Given the description of an element on the screen output the (x, y) to click on. 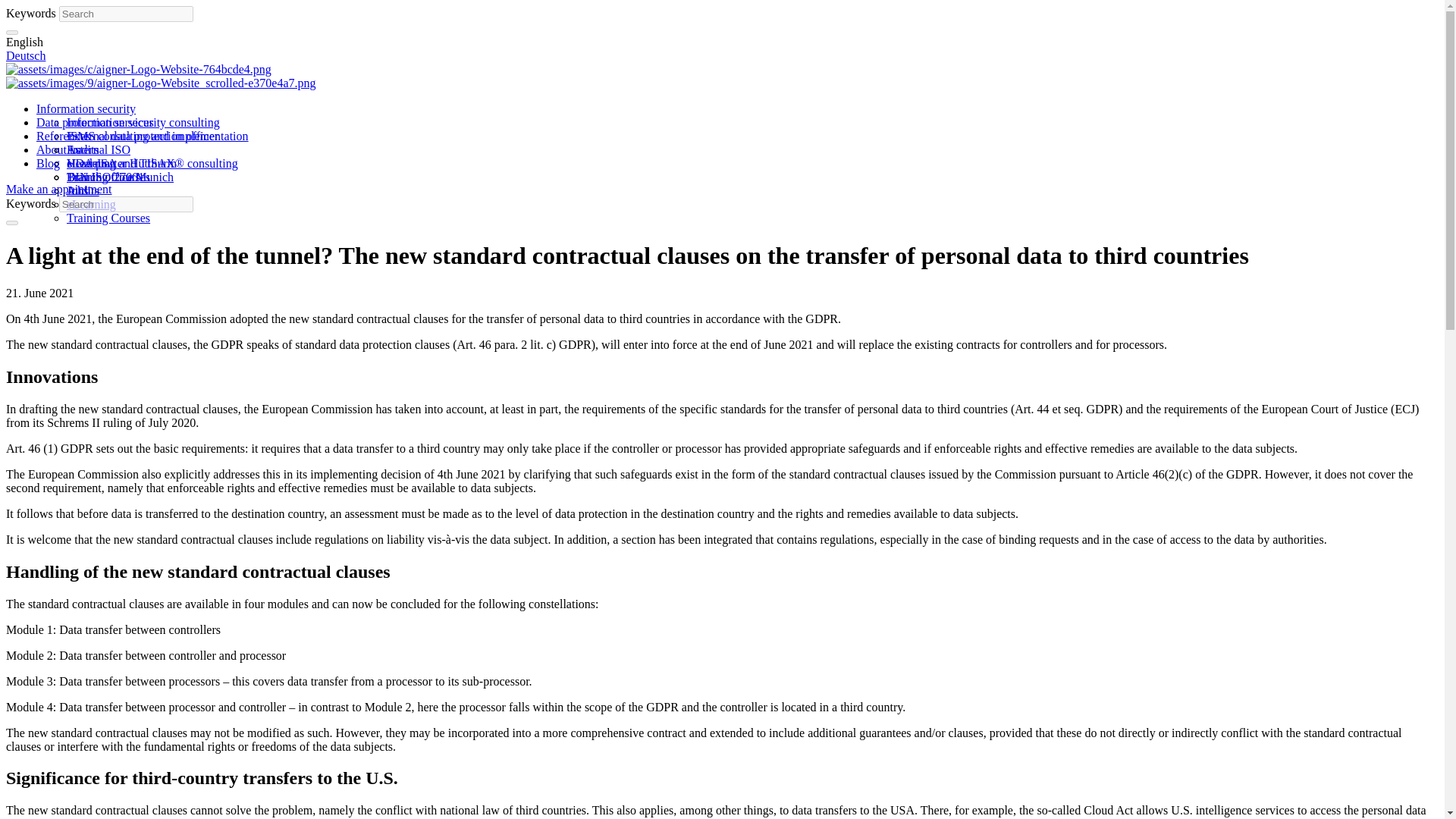
Training Courses (107, 176)
ISMS consulting and implementation (157, 135)
References (63, 135)
Jobs (76, 190)
External ISO (98, 149)
Jobs (76, 190)
Branch office Munich (119, 176)
Audits (82, 190)
Deutsch (25, 55)
Training Courses (107, 217)
Information security consulting (142, 122)
References (63, 135)
Data protection services (95, 122)
Audits (82, 149)
About us (58, 149)
